Given the description of an element on the screen output the (x, y) to click on. 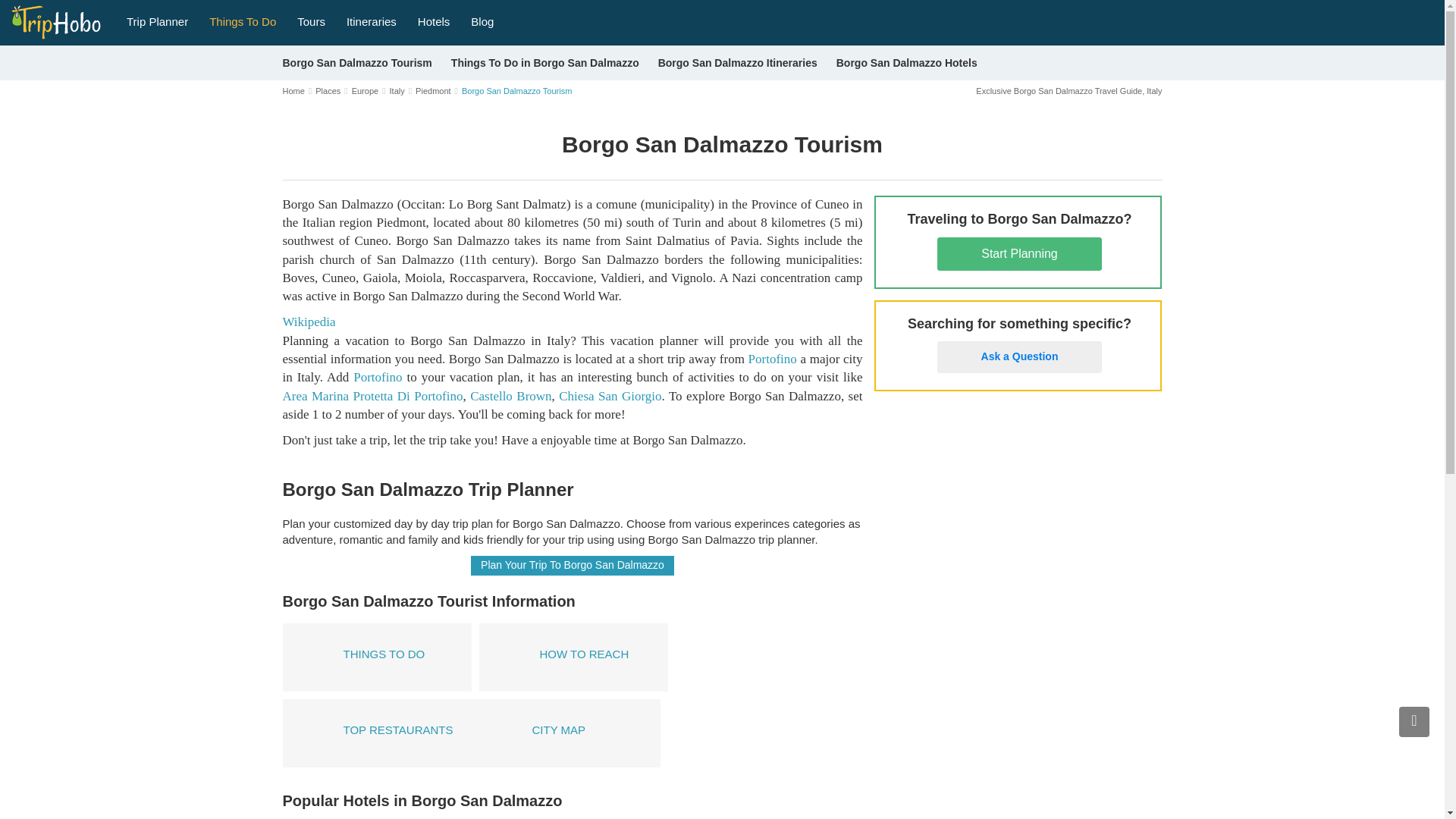
Itineraries (371, 20)
Chiesa San Giorgio (610, 396)
THINGS TO DO (376, 657)
Plan Your Trip To Borgo San Dalmazzo (572, 565)
Borgo San Dalmazzo Hotels (905, 62)
Places (327, 90)
Piedmont (431, 90)
Borgo San Dalmazzo Itineraries (737, 62)
Itineraries (371, 20)
Top Restaurants In Borgo San Dalmazzo (376, 733)
Borgo San Dalmazzo Tourism (356, 62)
Wikipedia (308, 321)
Europe (365, 90)
Portofino (772, 359)
Area Marina Protetta Di Portofino (372, 396)
